Given the description of an element on the screen output the (x, y) to click on. 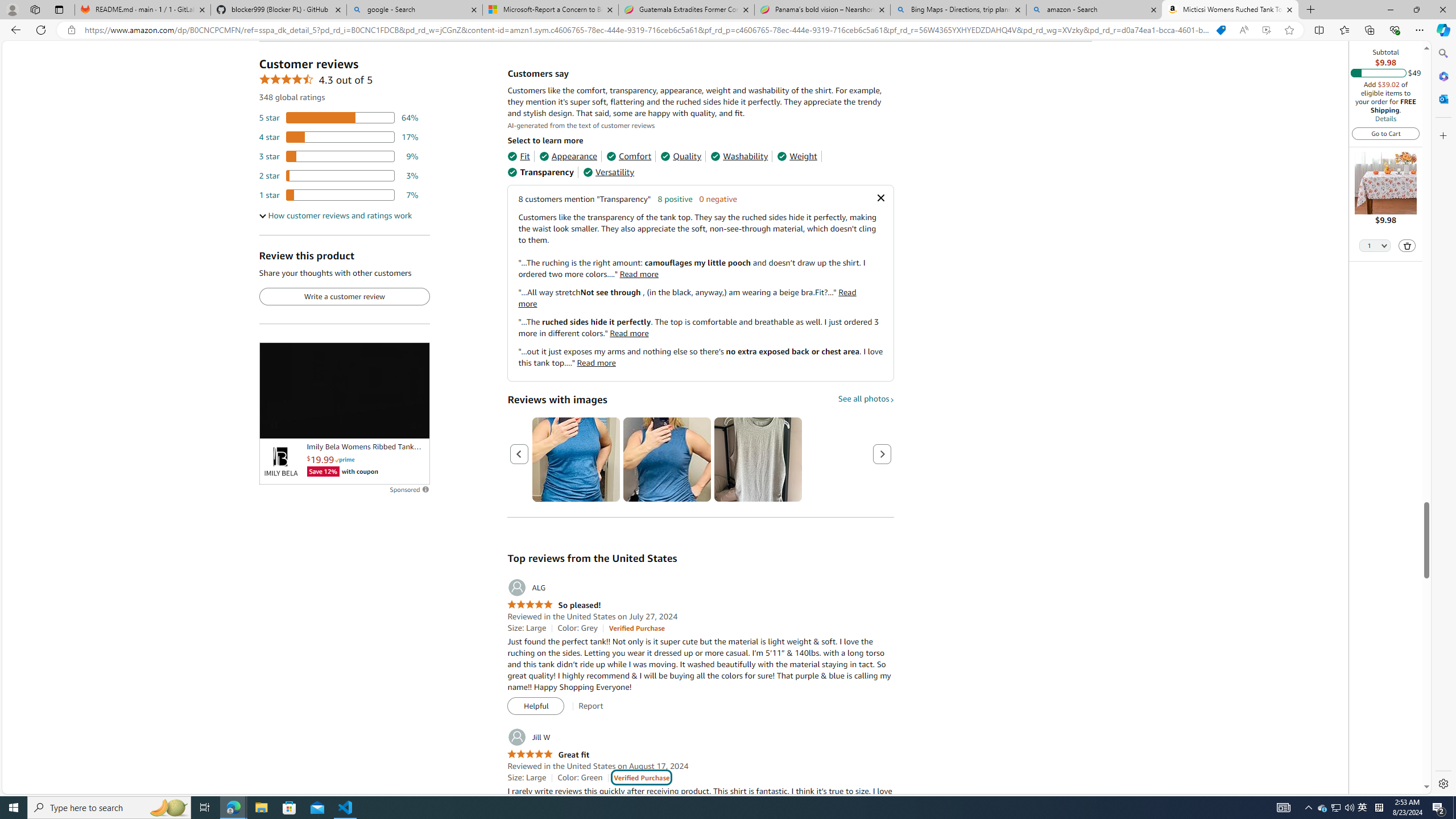
Unmute (414, 424)
Read more (595, 362)
Customer Image (758, 459)
64 percent of reviews have 5 stars (339, 117)
Sponsored ad (344, 390)
Write a customer review (344, 296)
Pause (273, 424)
Helpful (536, 705)
